Given the description of an element on the screen output the (x, y) to click on. 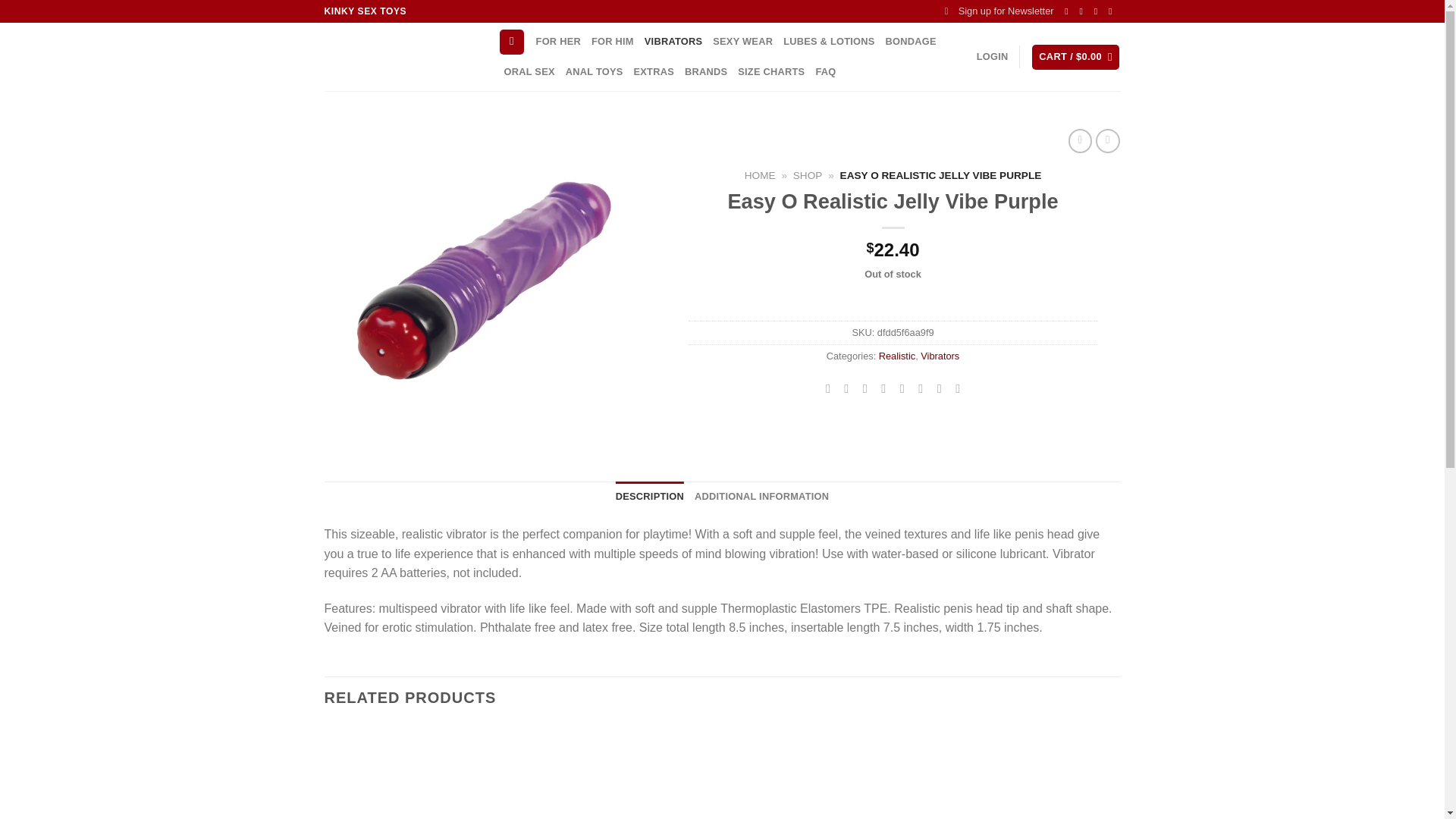
Sign up for Newsletter (999, 11)
FOR HER (557, 41)
Sign up for Newsletter (999, 11)
Login (992, 56)
ANAL TOYS (594, 71)
FOR HIM (612, 41)
SIZE CHARTS (771, 71)
HOME (760, 174)
LOGIN (992, 56)
BONDAGE (910, 41)
VIBRATORS (674, 41)
Cart (1075, 57)
Share on X (845, 387)
Share on Facebook (828, 387)
Email to a Friend (864, 387)
